Given the description of an element on the screen output the (x, y) to click on. 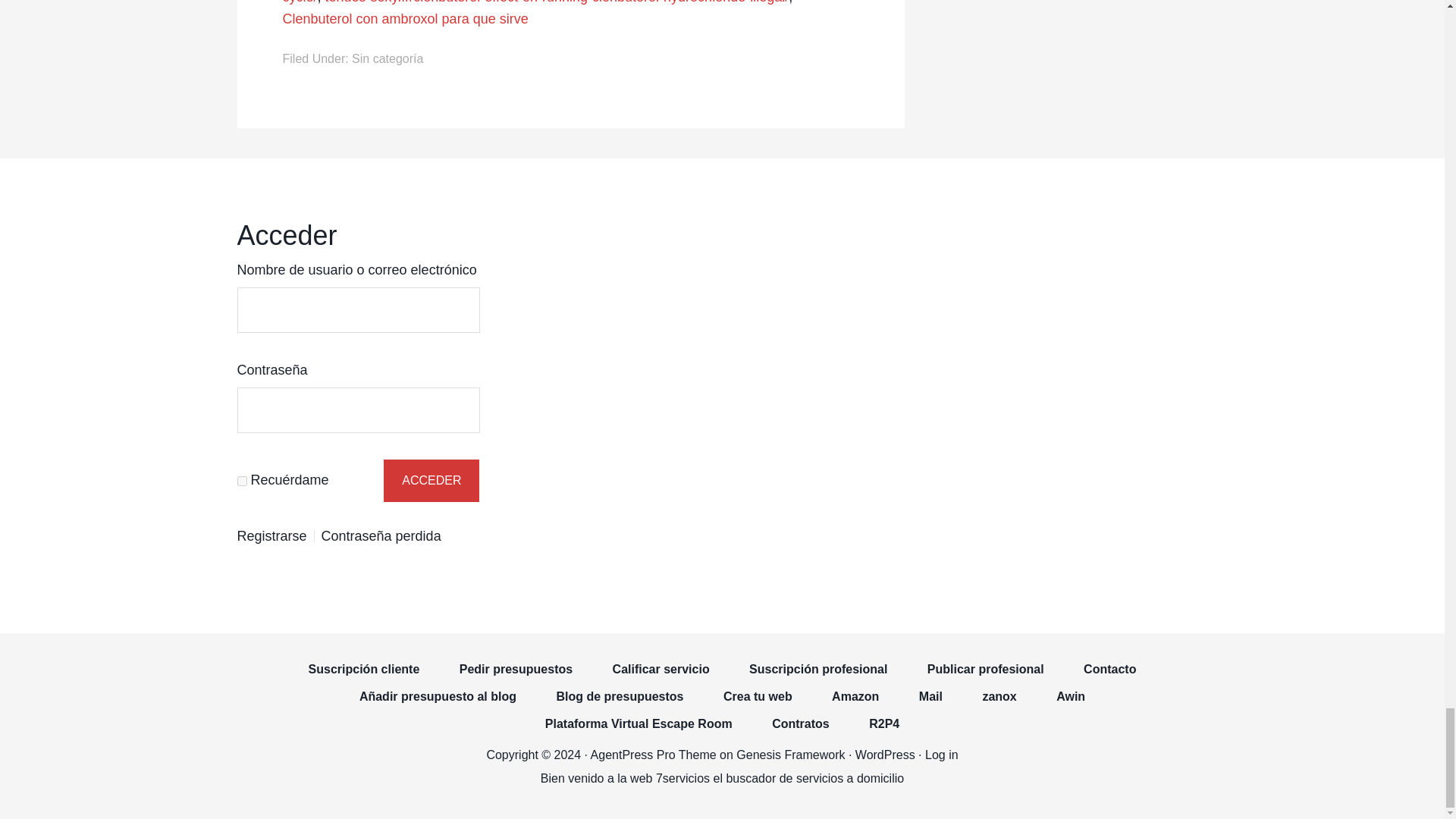
Acceder (431, 480)
forever (240, 480)
